Given the description of an element on the screen output the (x, y) to click on. 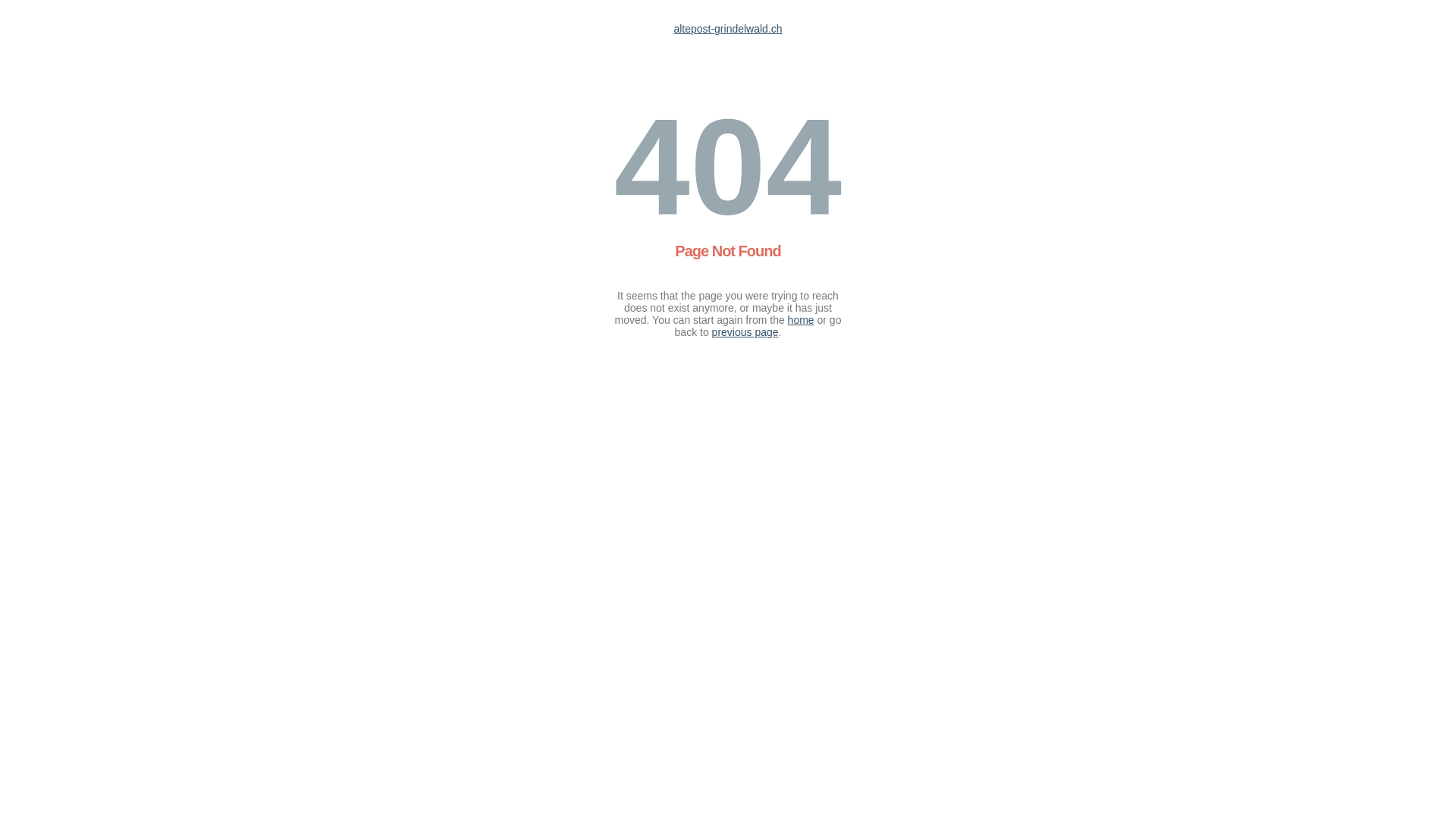
previous page Element type: text (745, 332)
altepost-grindelwald.ch Element type: text (727, 28)
home Element type: text (800, 319)
